Given the description of an element on the screen output the (x, y) to click on. 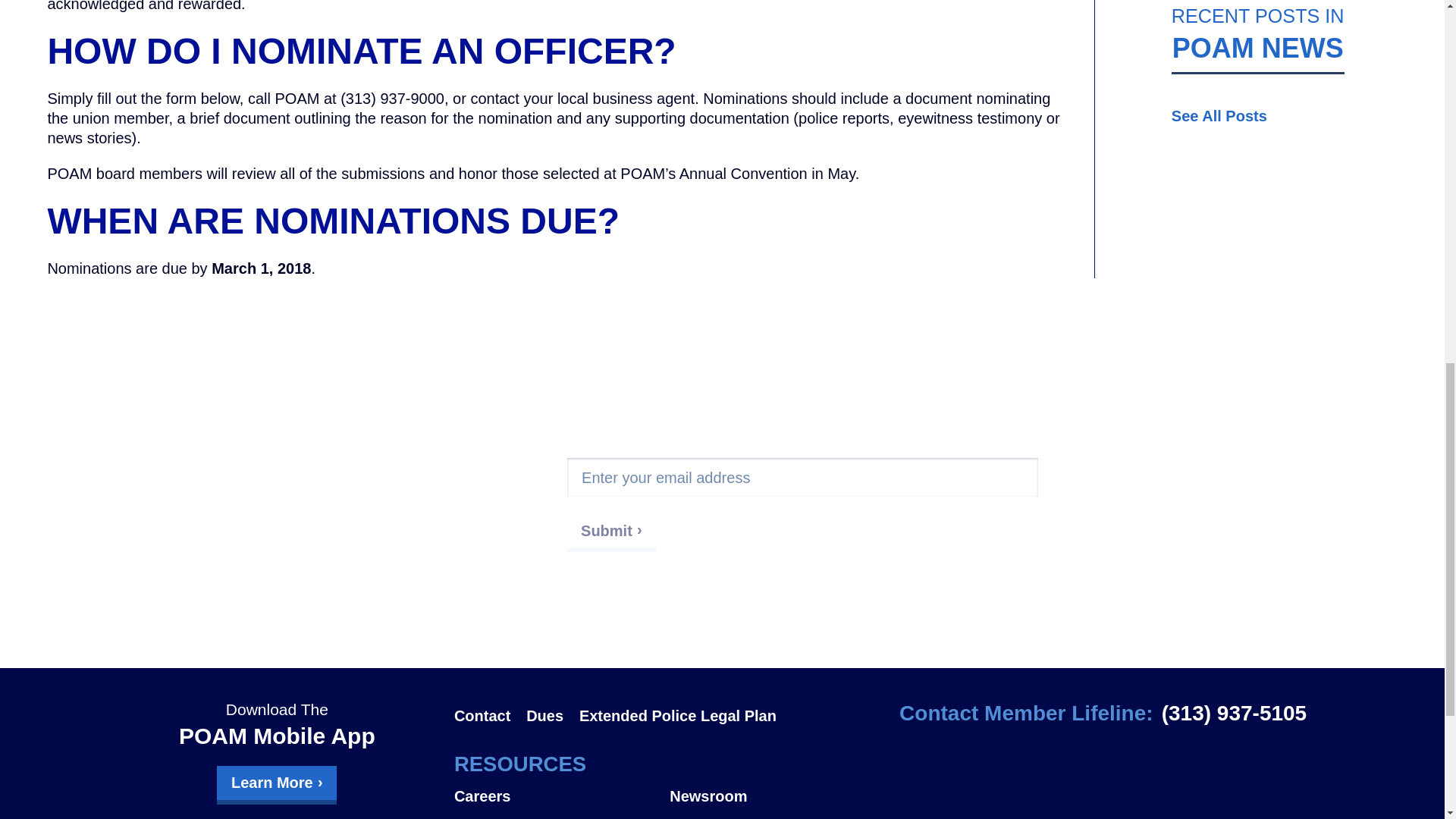
Newsroom (707, 795)
Contact (482, 715)
Dues (544, 715)
Forms (477, 818)
Careers (482, 795)
Extended Police Legal Plan (677, 715)
POAM Links (713, 818)
